Given the description of an element on the screen output the (x, y) to click on. 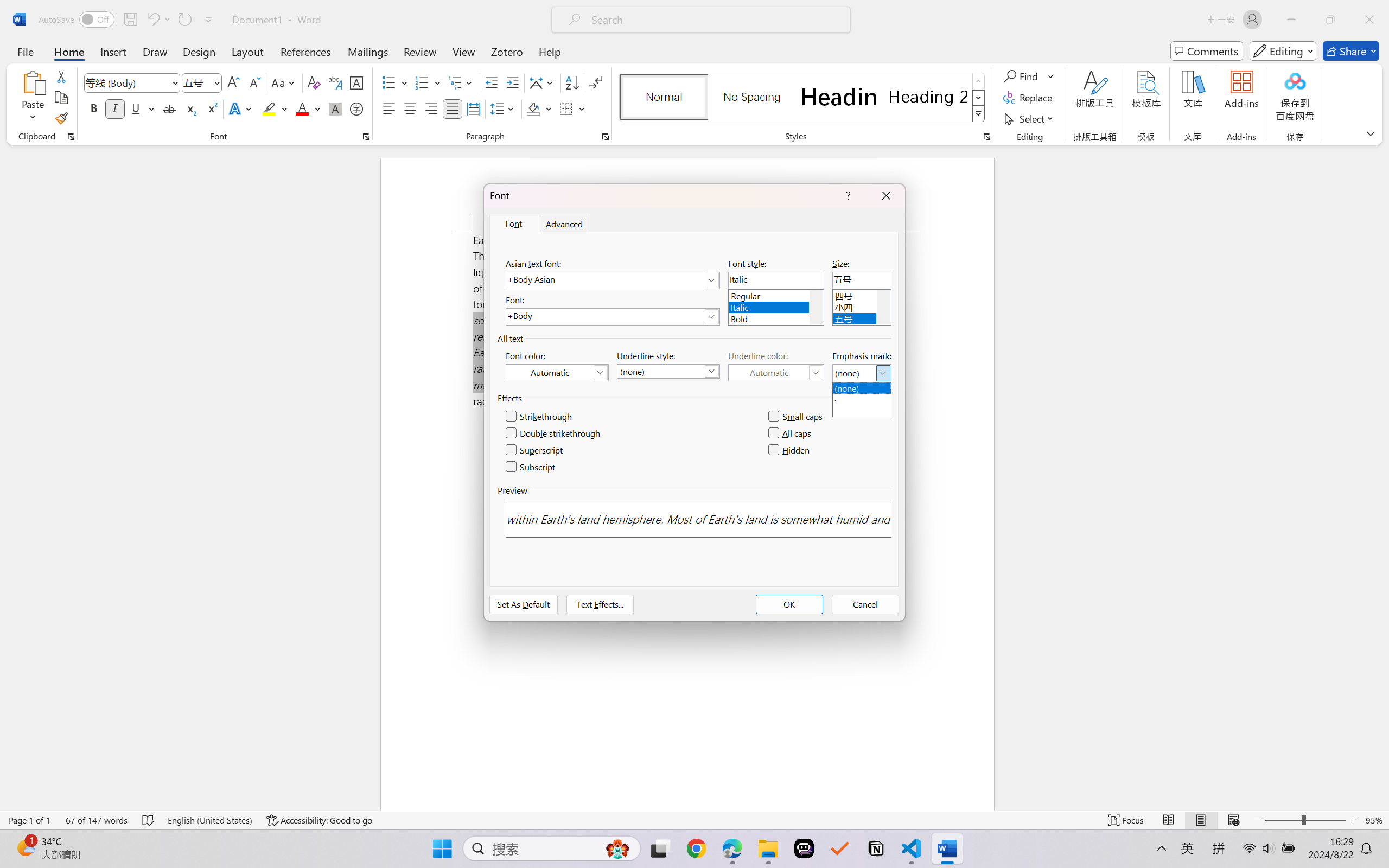
Advanced (564, 223)
Font style: (775, 280)
Distributed (473, 108)
Styles... (986, 136)
Hidden (789, 450)
Help (549, 51)
Regular (775, 294)
Change Case (284, 82)
Character Shading (334, 108)
